Given the description of an element on the screen output the (x, y) to click on. 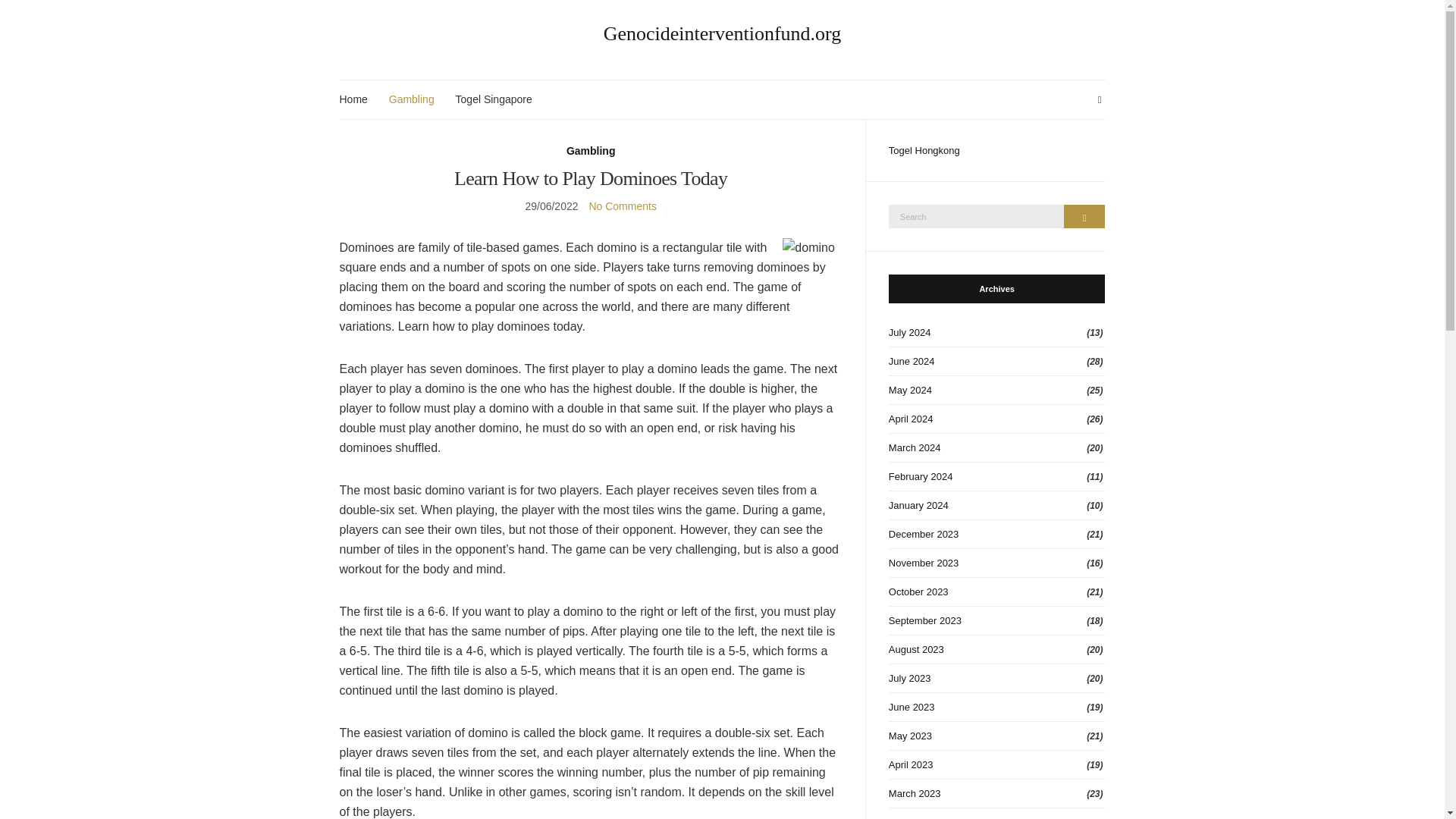
No Comments (622, 205)
January 2024 (996, 505)
Gambling (410, 99)
December 2023 (996, 534)
Gambling (590, 150)
March 2024 (996, 448)
July 2023 (996, 678)
July 2024 (996, 332)
Home (353, 99)
Genocideinterventionfund.org (722, 33)
November 2023 (996, 563)
September 2023 (996, 620)
May 2023 (996, 736)
June 2023 (996, 706)
Togel Hongkong (923, 150)
